Given the description of an element on the screen output the (x, y) to click on. 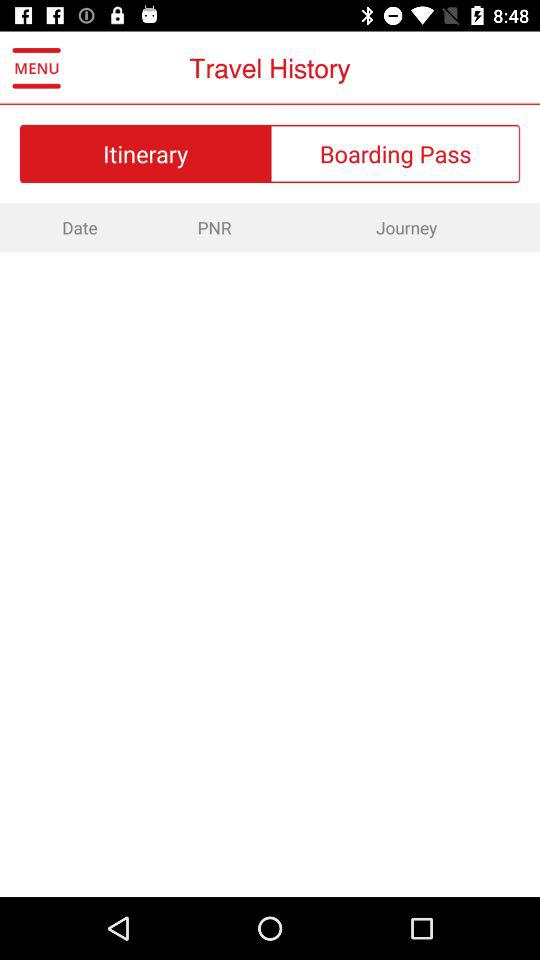
open the item next to the pnr item (77, 227)
